Given the description of an element on the screen output the (x, y) to click on. 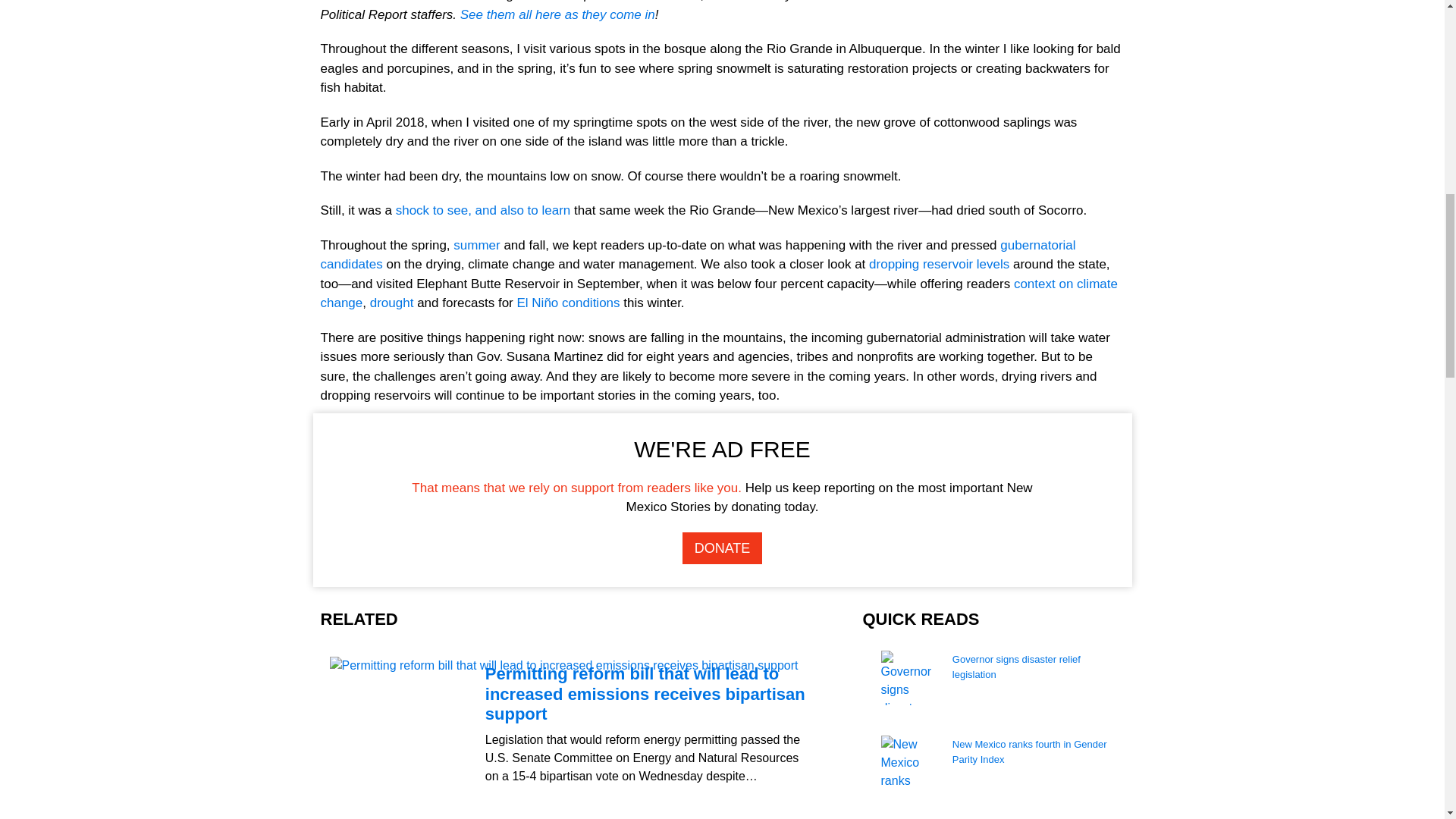
DONATE (722, 548)
drought (391, 302)
gubernatorial candidates (697, 254)
context on climate change (718, 293)
summer (475, 245)
shock to see, and also to learn (483, 210)
dropping reservoir levels (939, 264)
See them all here as they come in (557, 14)
